Given the description of an element on the screen output the (x, y) to click on. 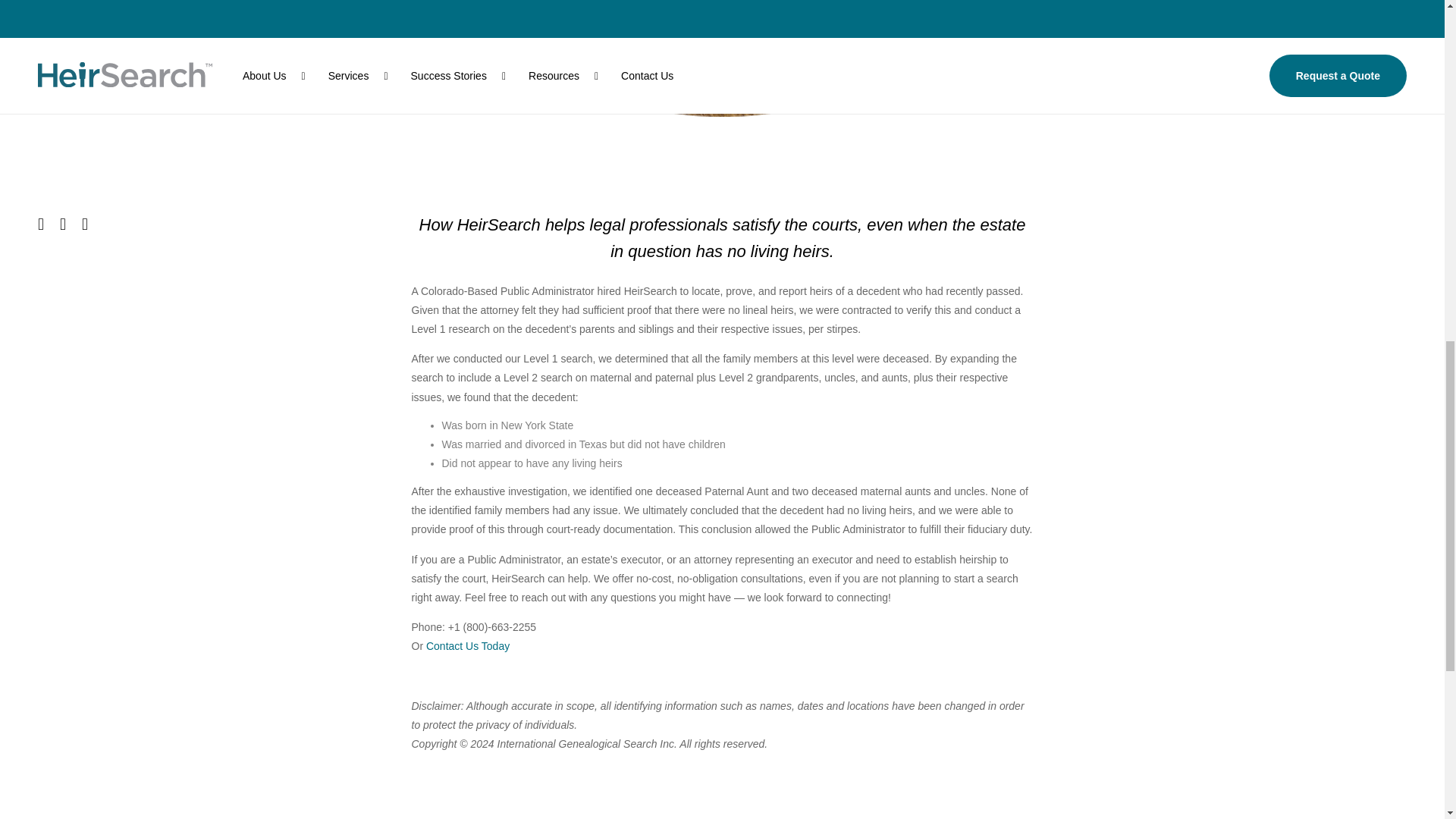
Contact Us Today (467, 645)
